Given the description of an element on the screen output the (x, y) to click on. 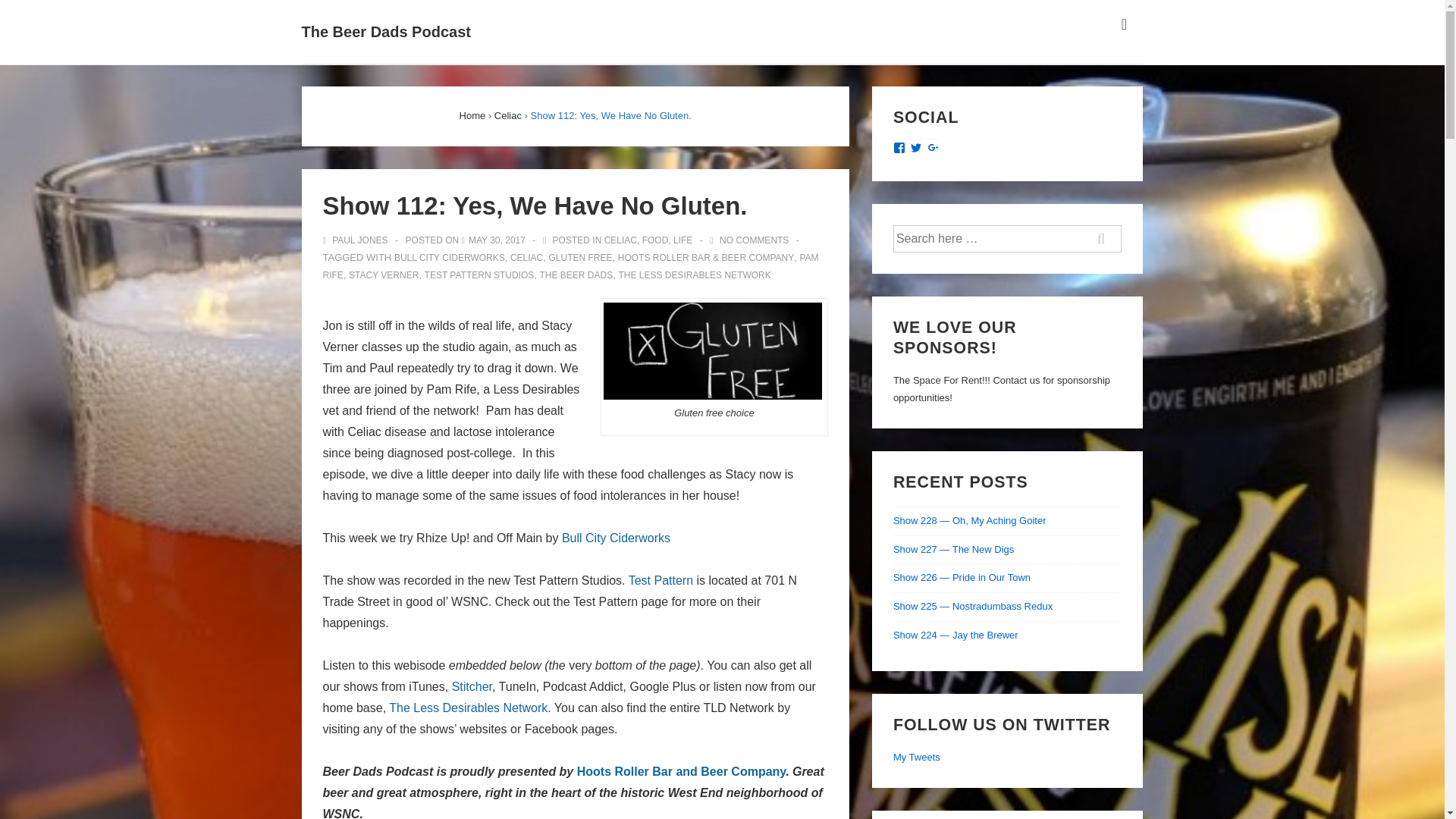
Home (473, 115)
CELIAC (527, 257)
STACY VERNER (384, 275)
Test Pattern (660, 580)
GLUTEN FREE (580, 257)
Stitcher (471, 686)
MAY 30, 2017 (496, 240)
Bull City Ciderworks (615, 537)
NO COMMENTS (754, 240)
MENU (1123, 24)
